Given the description of an element on the screen output the (x, y) to click on. 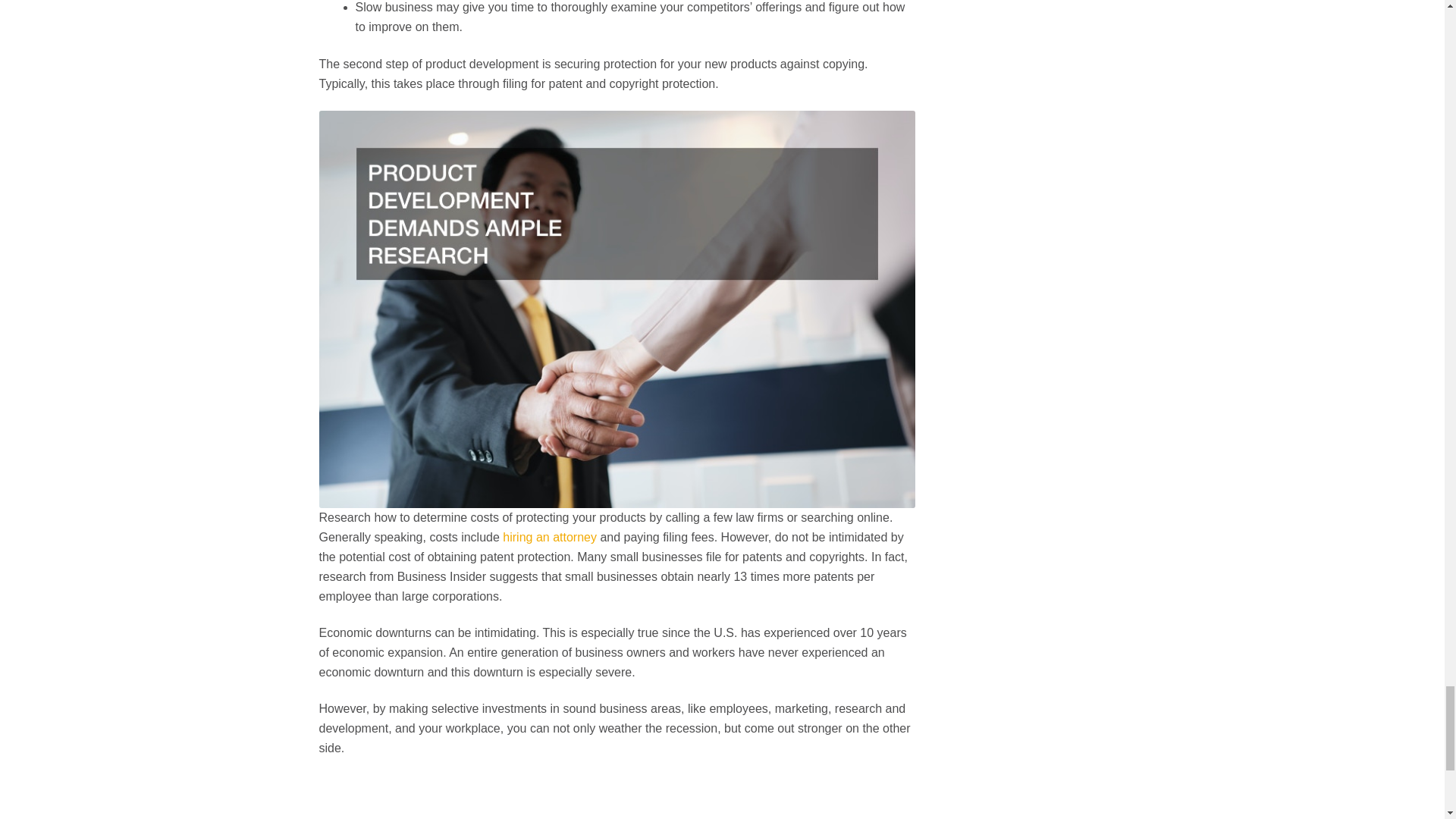
hiring an attorney (549, 536)
